Given the description of an element on the screen output the (x, y) to click on. 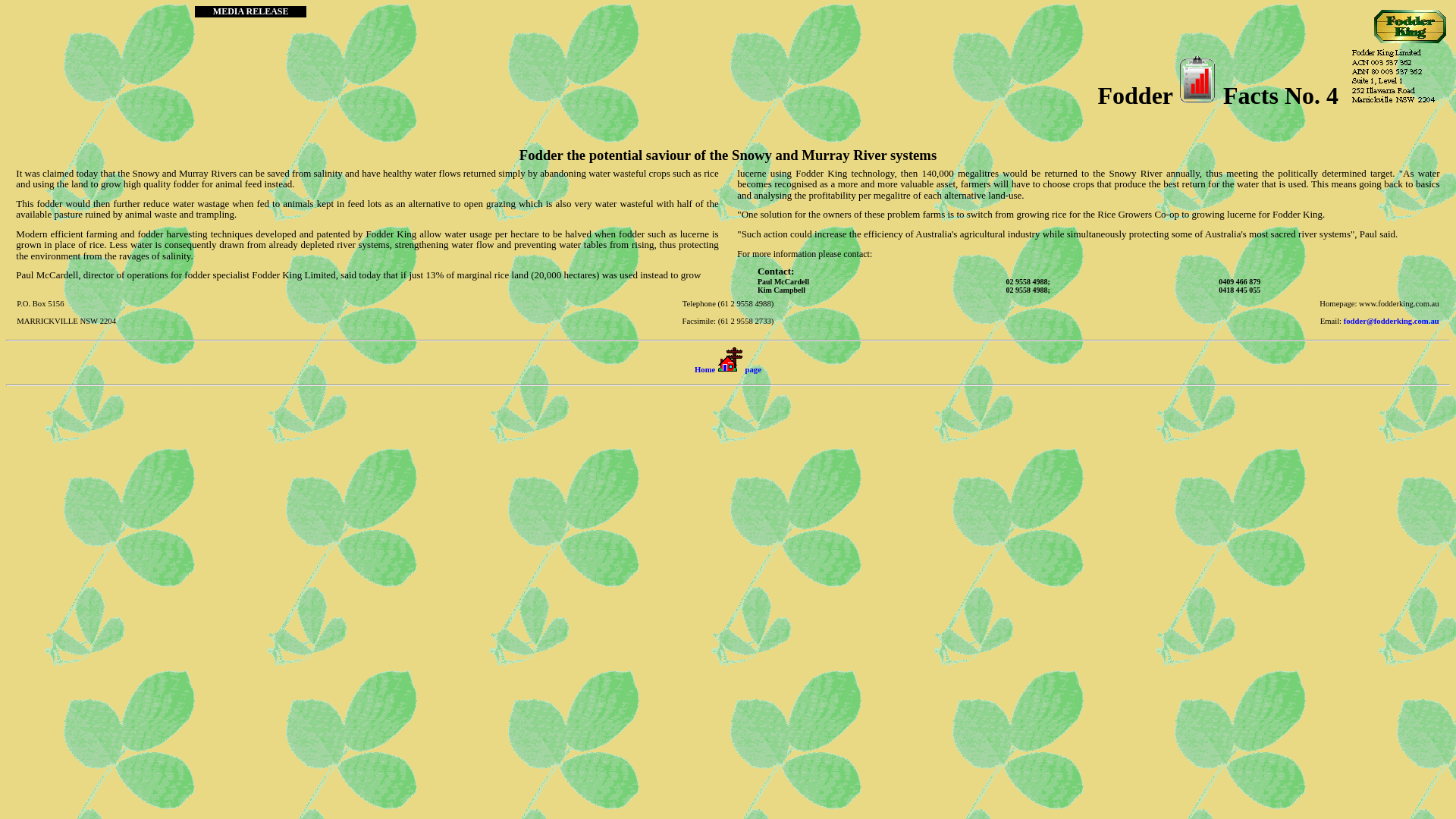
fodder@fodderking.com.au Element type: text (1391, 320)
Home page Element type: text (727, 369)
